Given the description of an element on the screen output the (x, y) to click on. 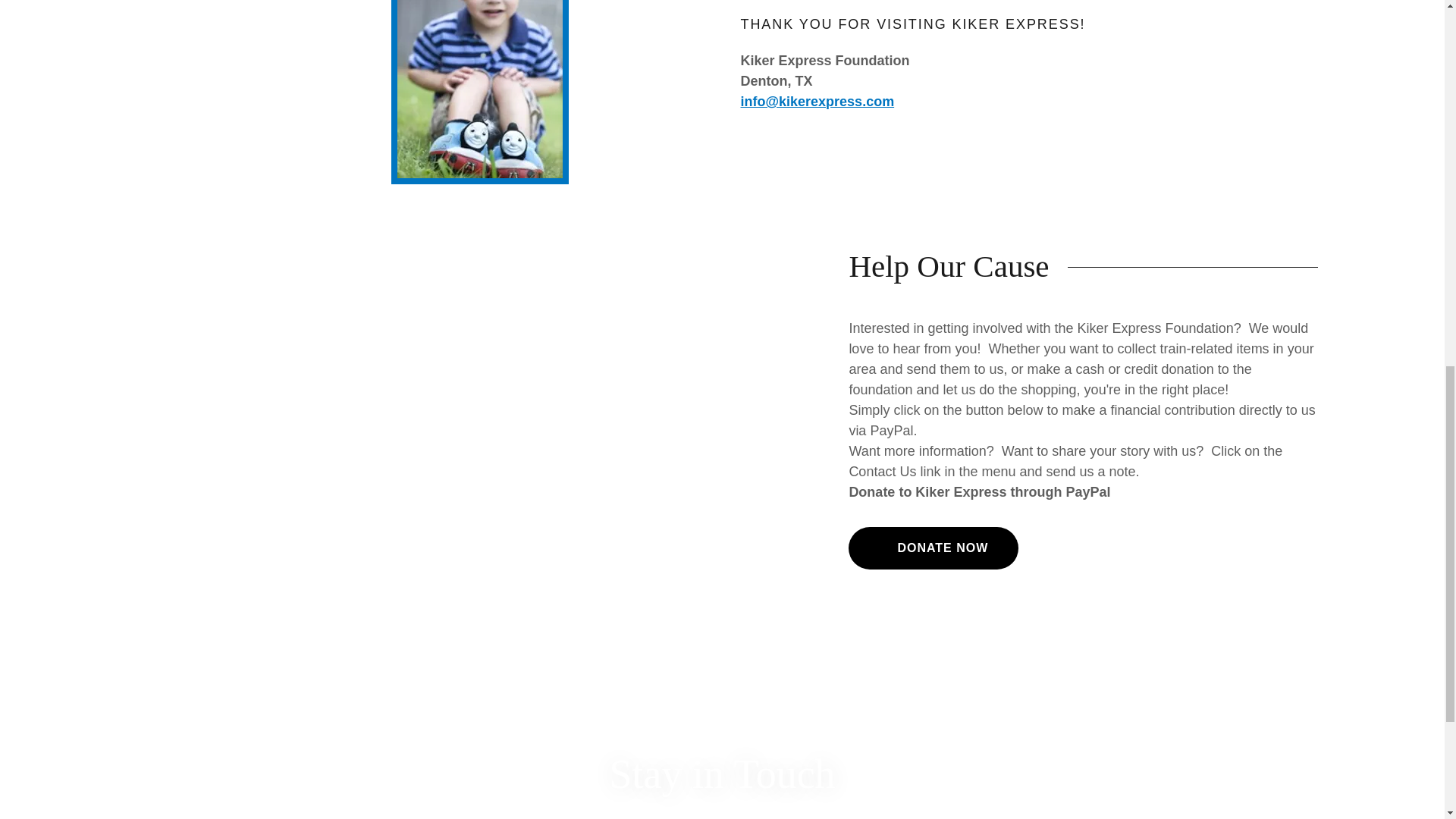
DONATE NOW (932, 548)
